Given the description of an element on the screen output the (x, y) to click on. 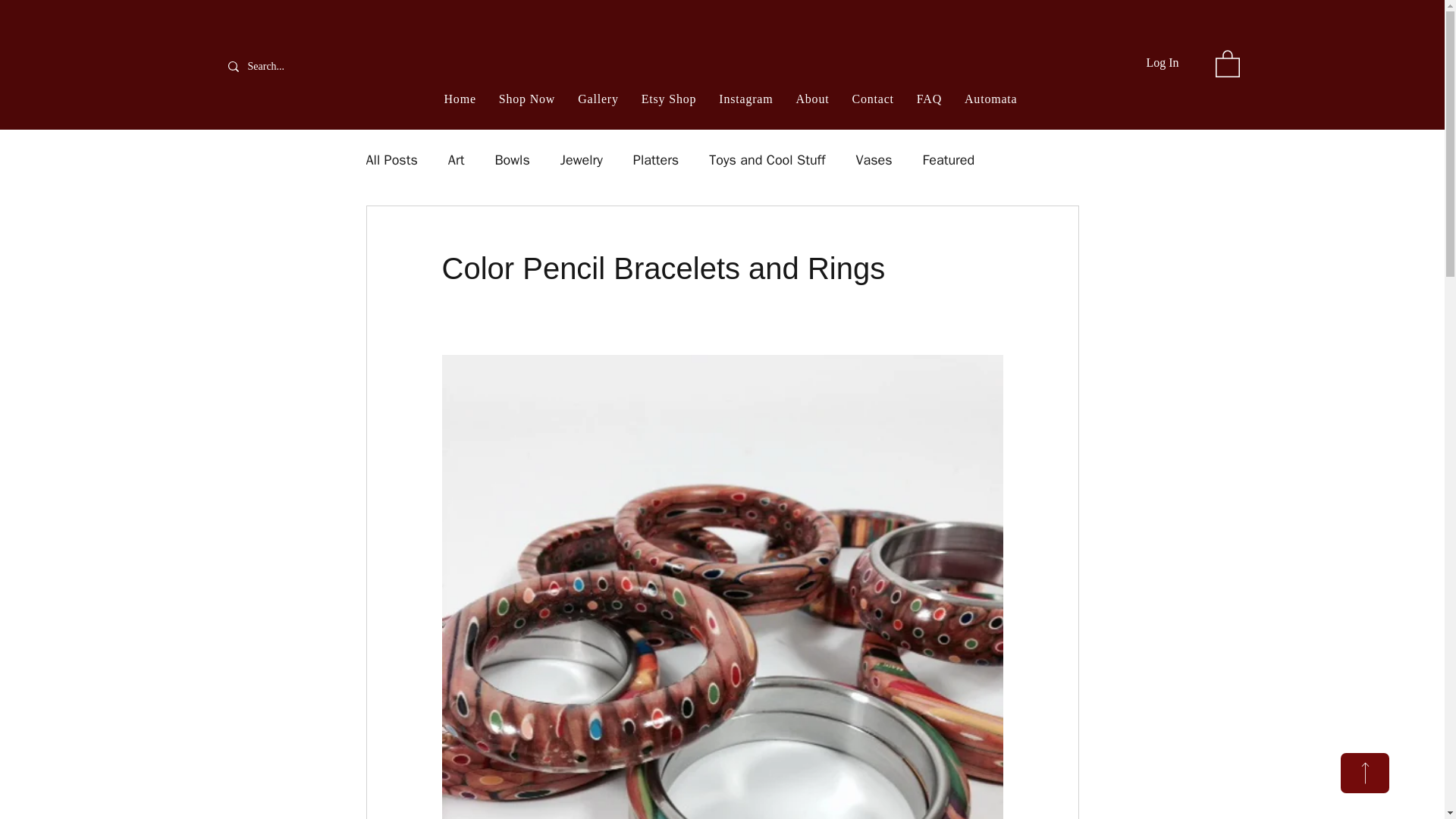
Home (459, 99)
Jewelry (581, 159)
Instagram (745, 99)
Bowls (512, 159)
About (812, 99)
Contact (872, 99)
All Posts (390, 159)
Vases (873, 159)
Etsy Shop (668, 99)
Toys and Cool Stuff (767, 159)
Platters (655, 159)
Automata (990, 99)
FAQ (929, 99)
Featured (949, 159)
Log In (1162, 62)
